Given the description of an element on the screen output the (x, y) to click on. 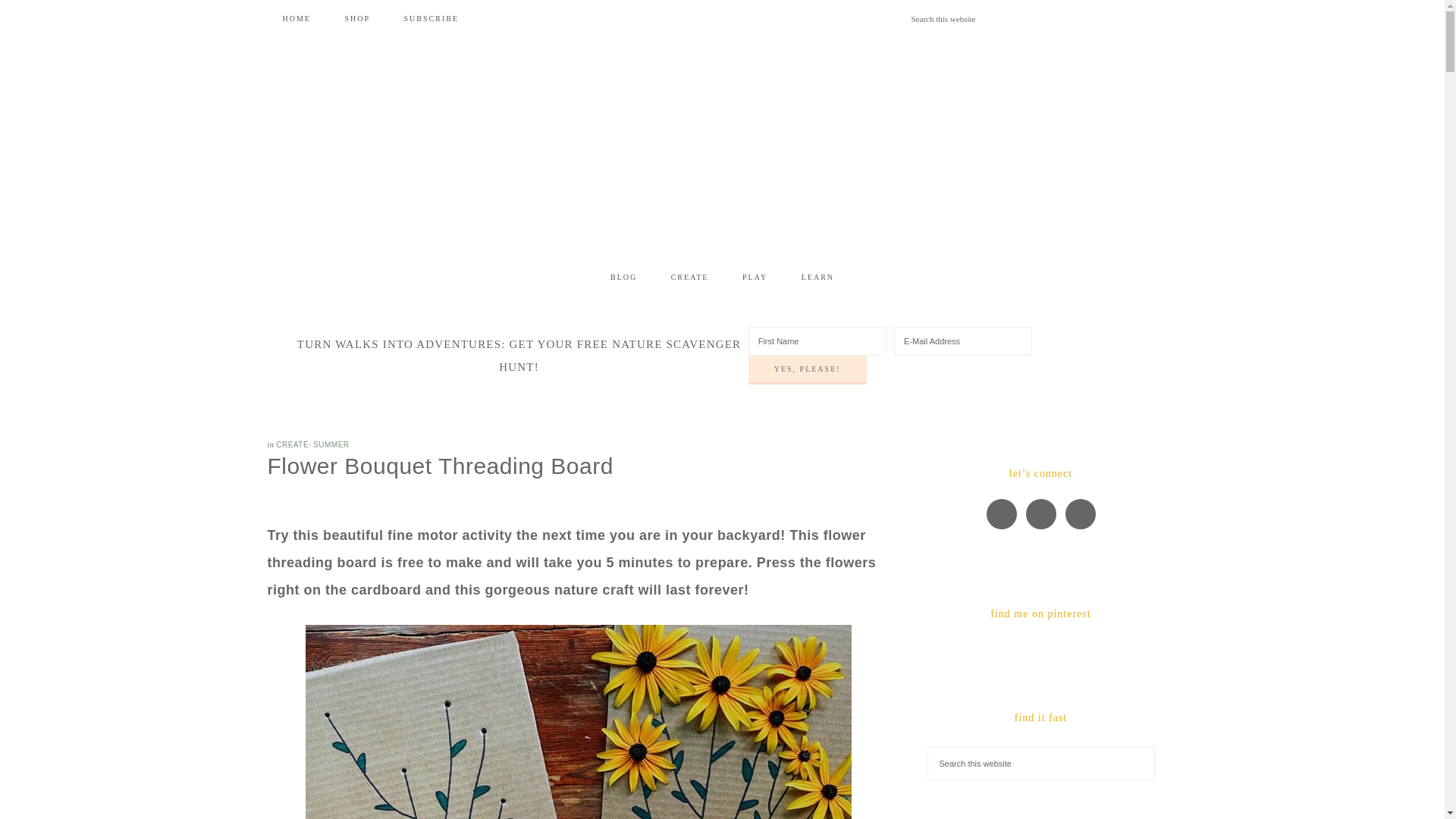
CREATE (292, 444)
PLAY (754, 277)
BLOG (623, 277)
LEARN (817, 277)
SUBSCRIBE (431, 18)
YES, PLEASE! (807, 369)
CREATE (689, 277)
